Given the description of an element on the screen output the (x, y) to click on. 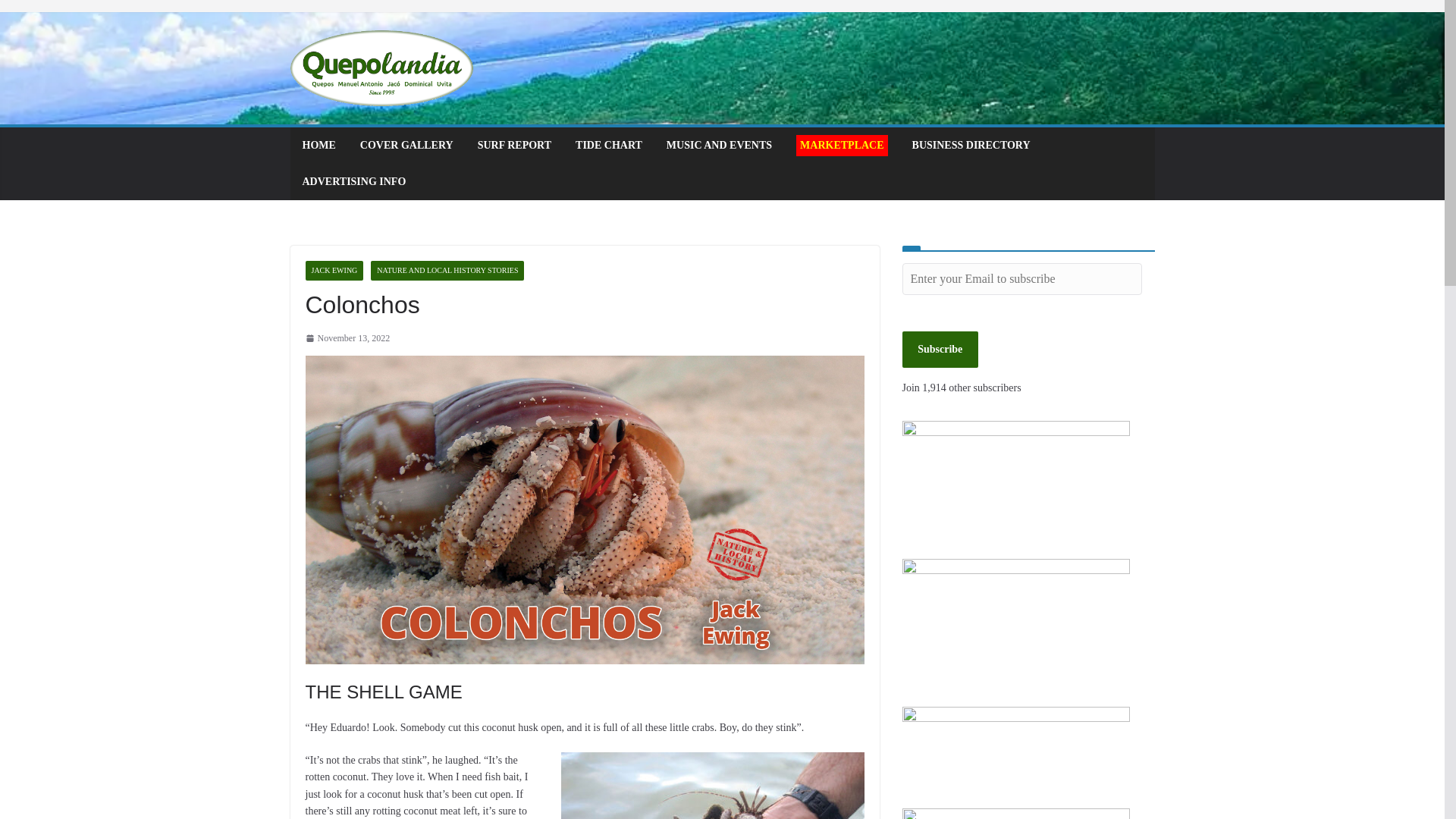
MARKETPLACE (841, 145)
BUSINESS DIRECTORY (971, 145)
9:39 am (347, 338)
MUSIC AND EVENTS (718, 145)
NATURE AND LOCAL HISTORY STORIES (447, 270)
Subscribe (940, 349)
JACK EWING (333, 270)
ADVERTISING INFO (353, 181)
HOME (317, 145)
TIDE CHART (608, 145)
